Given the description of an element on the screen output the (x, y) to click on. 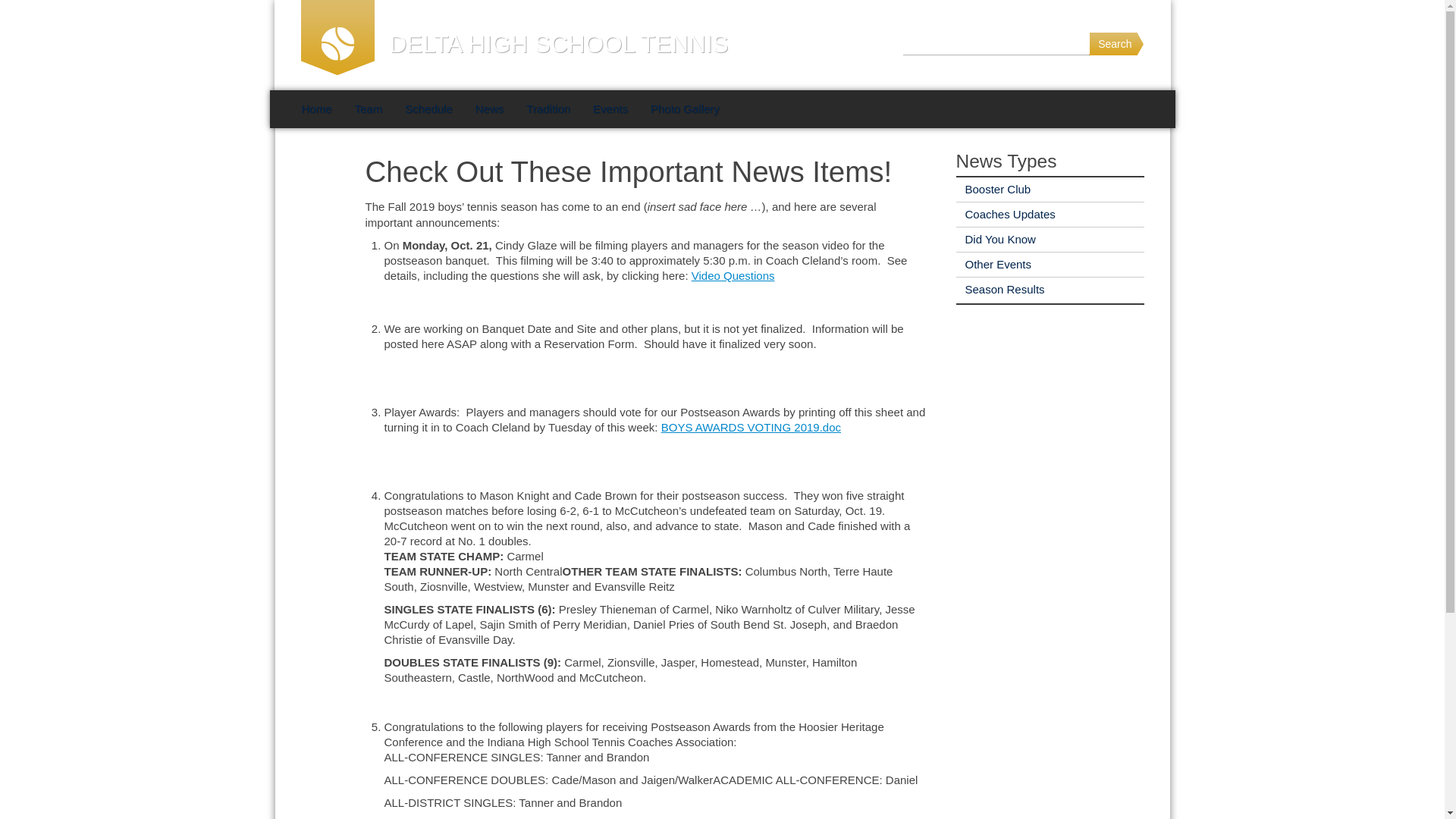
Schedule (428, 108)
Events (609, 108)
Tradition (547, 108)
Booster Club (992, 188)
Did You Know (995, 238)
BOYS AWARDS VOTING 2019.doc (751, 427)
Team (368, 108)
Coaches Updates (1004, 214)
News (489, 108)
Photo Gallery (684, 108)
